Given the description of an element on the screen output the (x, y) to click on. 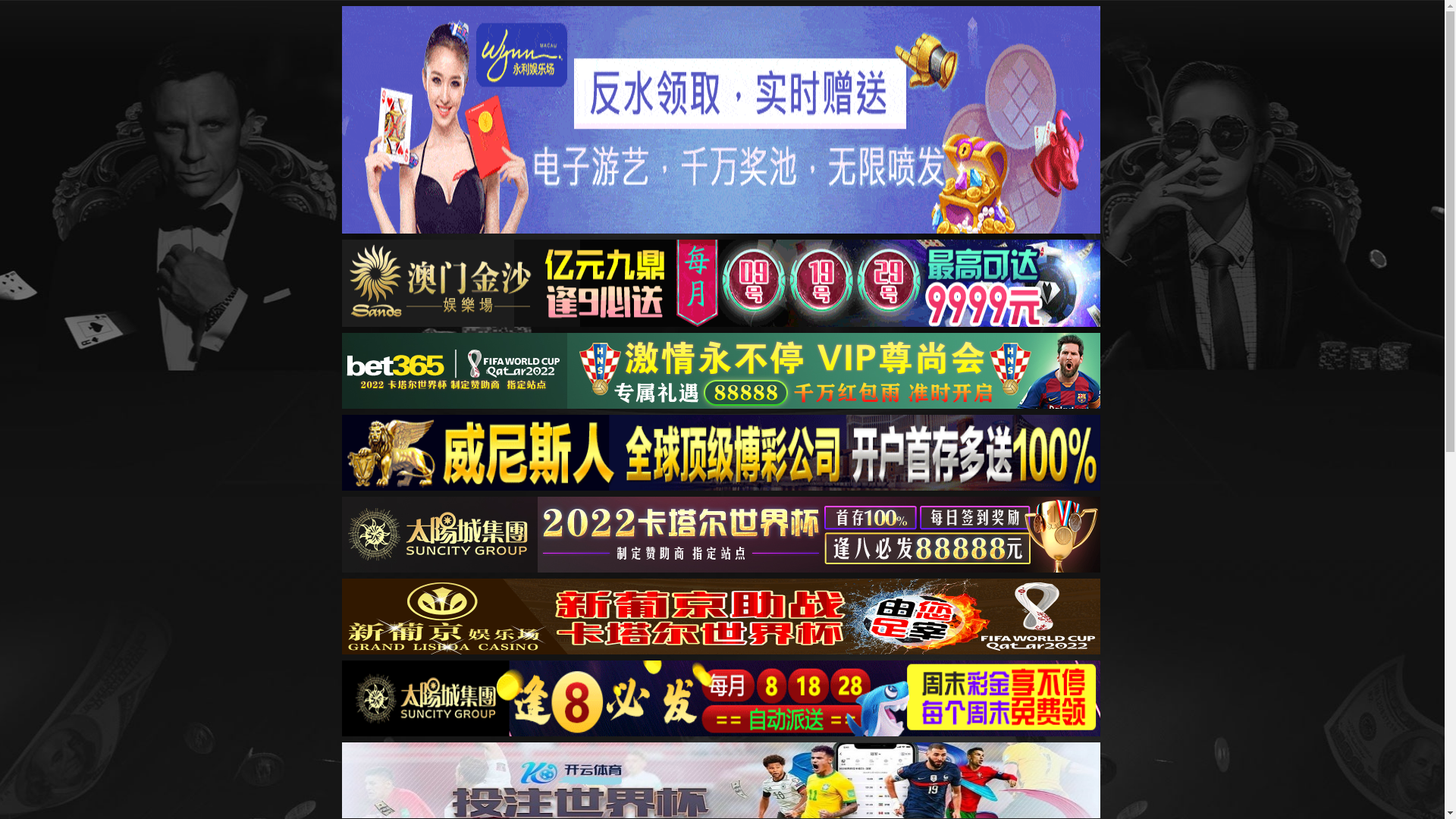
English Element type: text (818, 58)
